Given the description of an element on the screen output the (x, y) to click on. 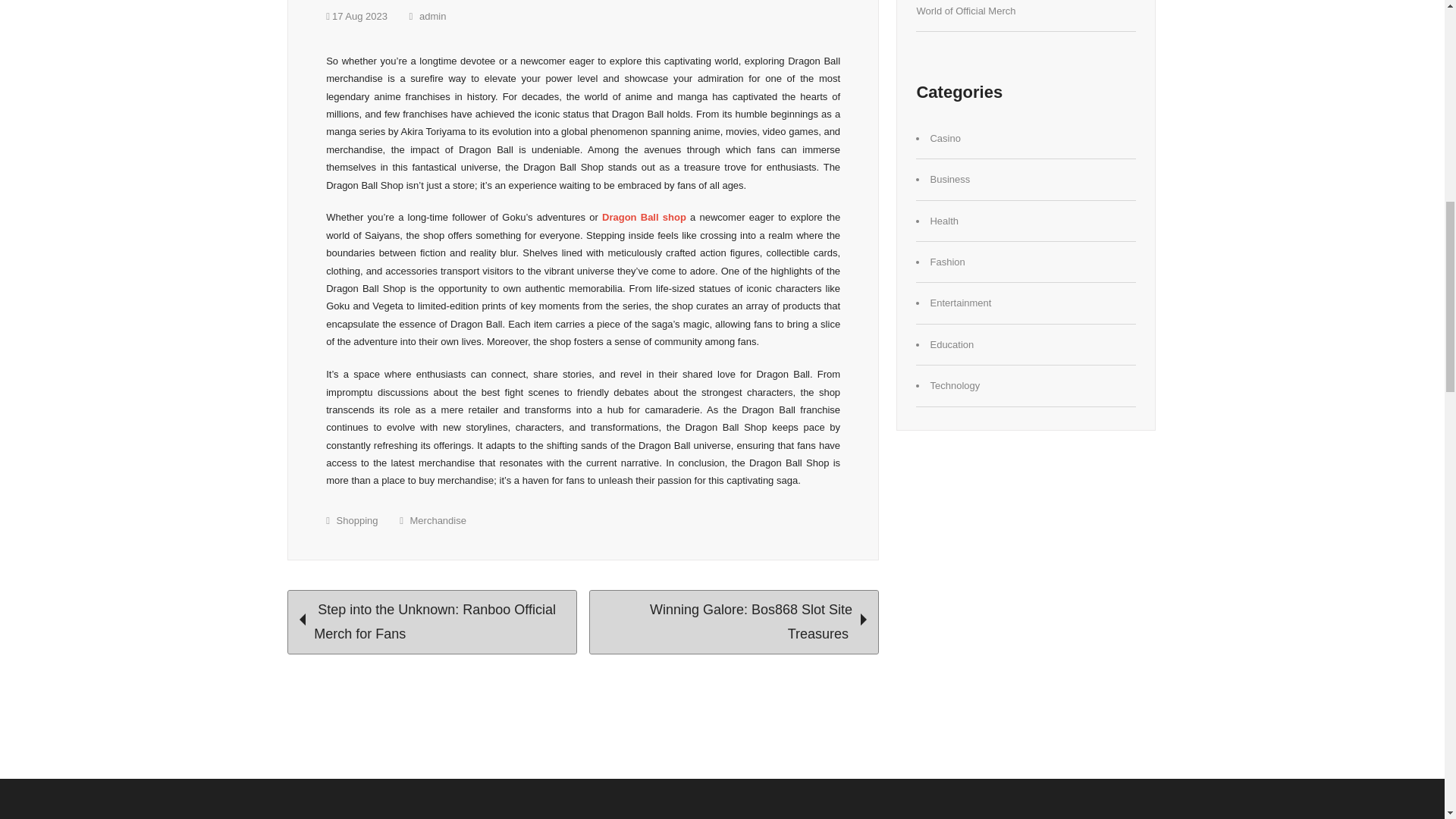
Shopping (357, 520)
Health (944, 220)
Education (952, 344)
Business (949, 179)
admin (427, 16)
Fashion (946, 261)
Technology (954, 385)
Entertainment (960, 302)
Merchandise (437, 520)
